Given the description of an element on the screen output the (x, y) to click on. 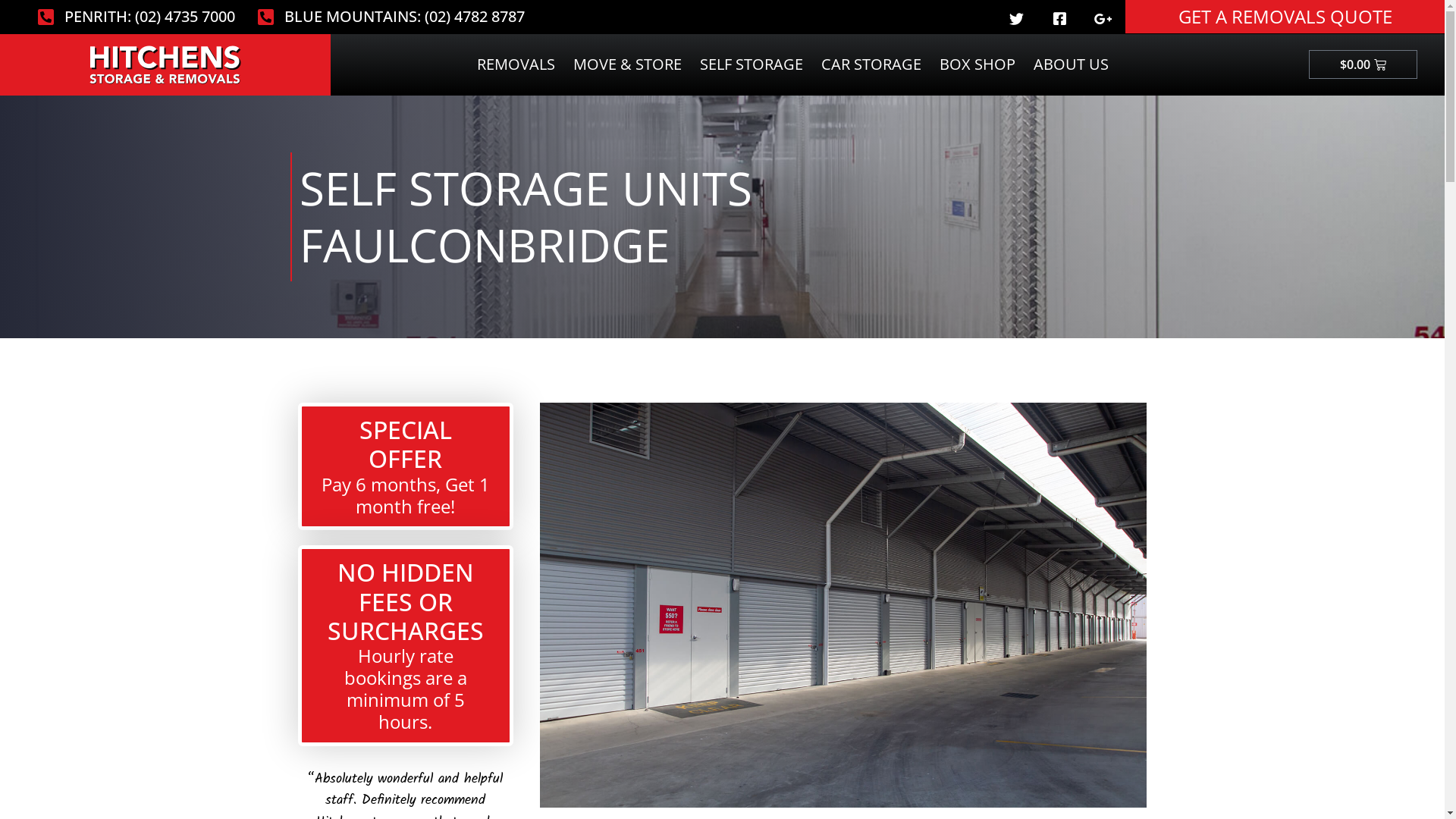
SELF STORAGE Element type: text (751, 64)
PENRITH: (02) 4735 7000 Element type: text (136, 17)
ABOUT US Element type: text (1070, 64)
Google-plus-g Element type: text (1102, 18)
MOVE & STORE Element type: text (627, 64)
$0.00
Cart Element type: text (1362, 64)
Facebook-square Element type: text (1059, 18)
CAR STORAGE Element type: text (871, 64)
BOX SHOP Element type: text (977, 64)
Twitter Element type: text (1016, 18)
BLUE MOUNTAINS: (02) 4782 8787 Element type: text (390, 17)
REMOVALS Element type: text (515, 64)
GET A REMOVALS QUOTE Element type: text (1284, 16)
